Given the description of an element on the screen output the (x, y) to click on. 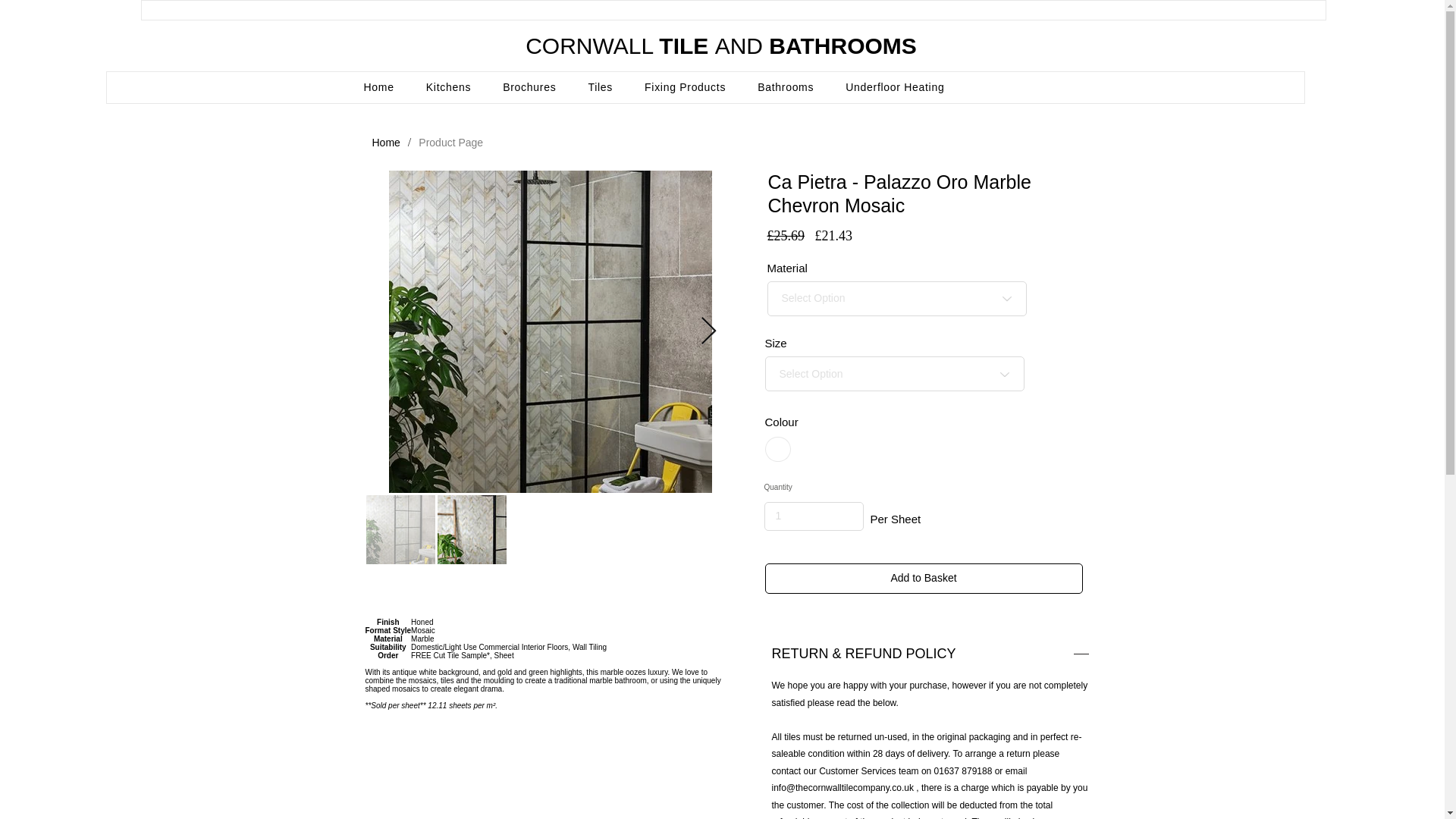
Underfloor Heating (894, 87)
Kitchens (448, 87)
Brochures (529, 87)
CORNWALL TILE AND BATHROOMS (721, 45)
Add to Basket (922, 578)
1 (813, 516)
Home (378, 87)
Bathrooms (785, 87)
Fixing Products (684, 87)
